Given the description of an element on the screen output the (x, y) to click on. 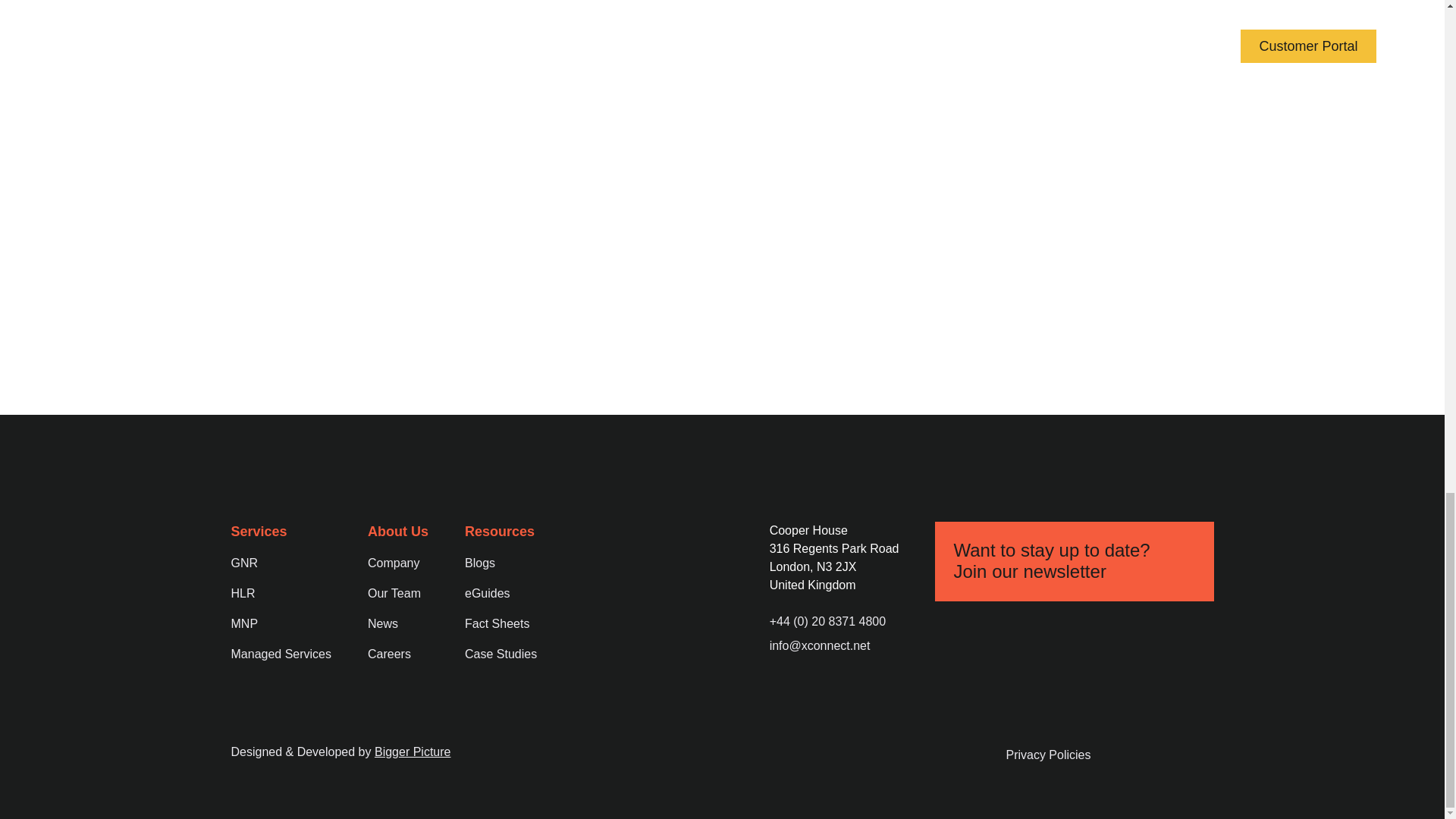
MNP (243, 616)
Managed Services (280, 647)
Services (258, 530)
GNR (243, 556)
